Given the description of an element on the screen output the (x, y) to click on. 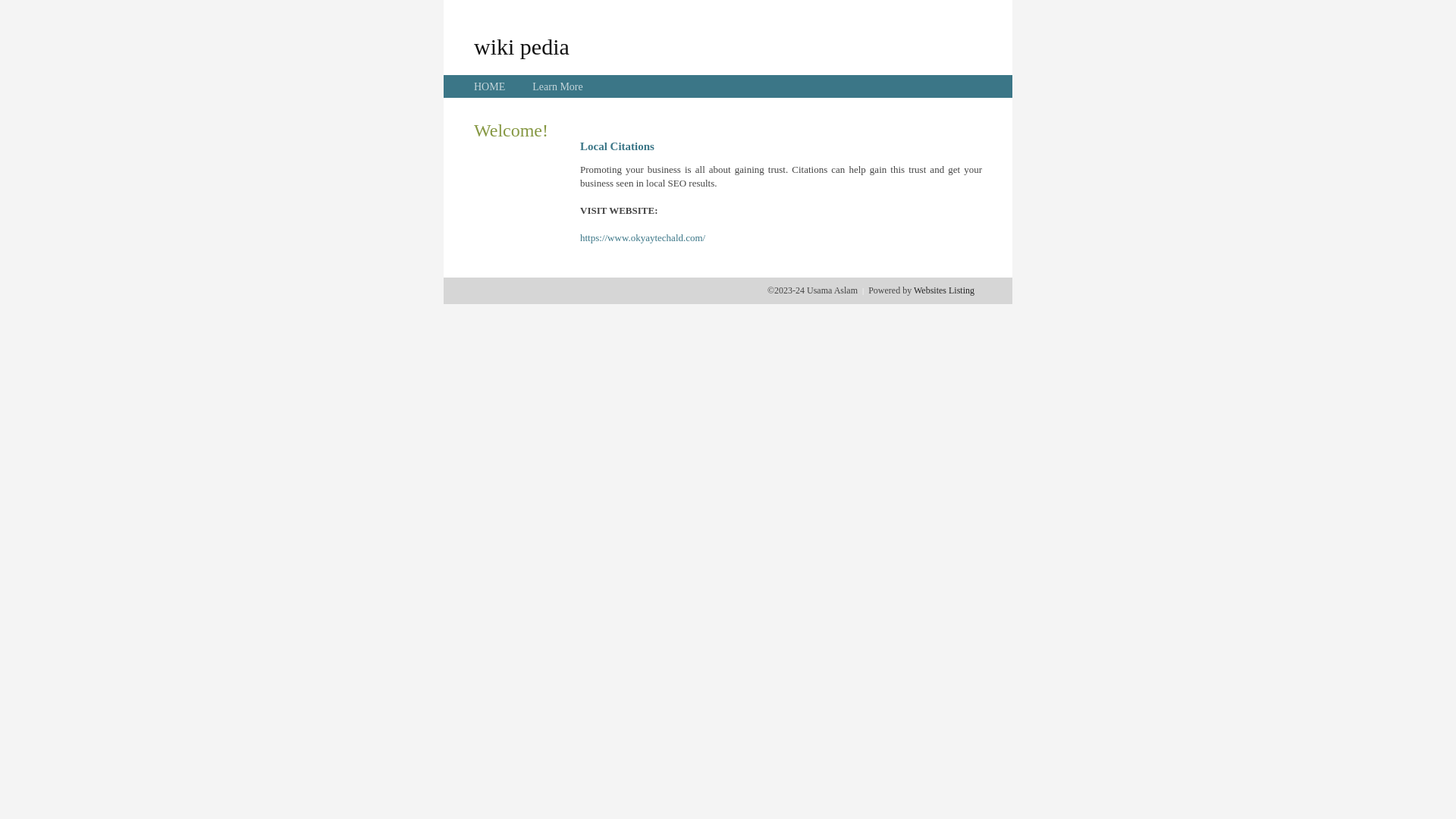
HOME Element type: text (489, 86)
Websites Listing Element type: text (943, 290)
Learn More Element type: text (557, 86)
wiki pedia Element type: text (521, 46)
https://www.okyaytechald.com/ Element type: text (642, 237)
